Given the description of an element on the screen output the (x, y) to click on. 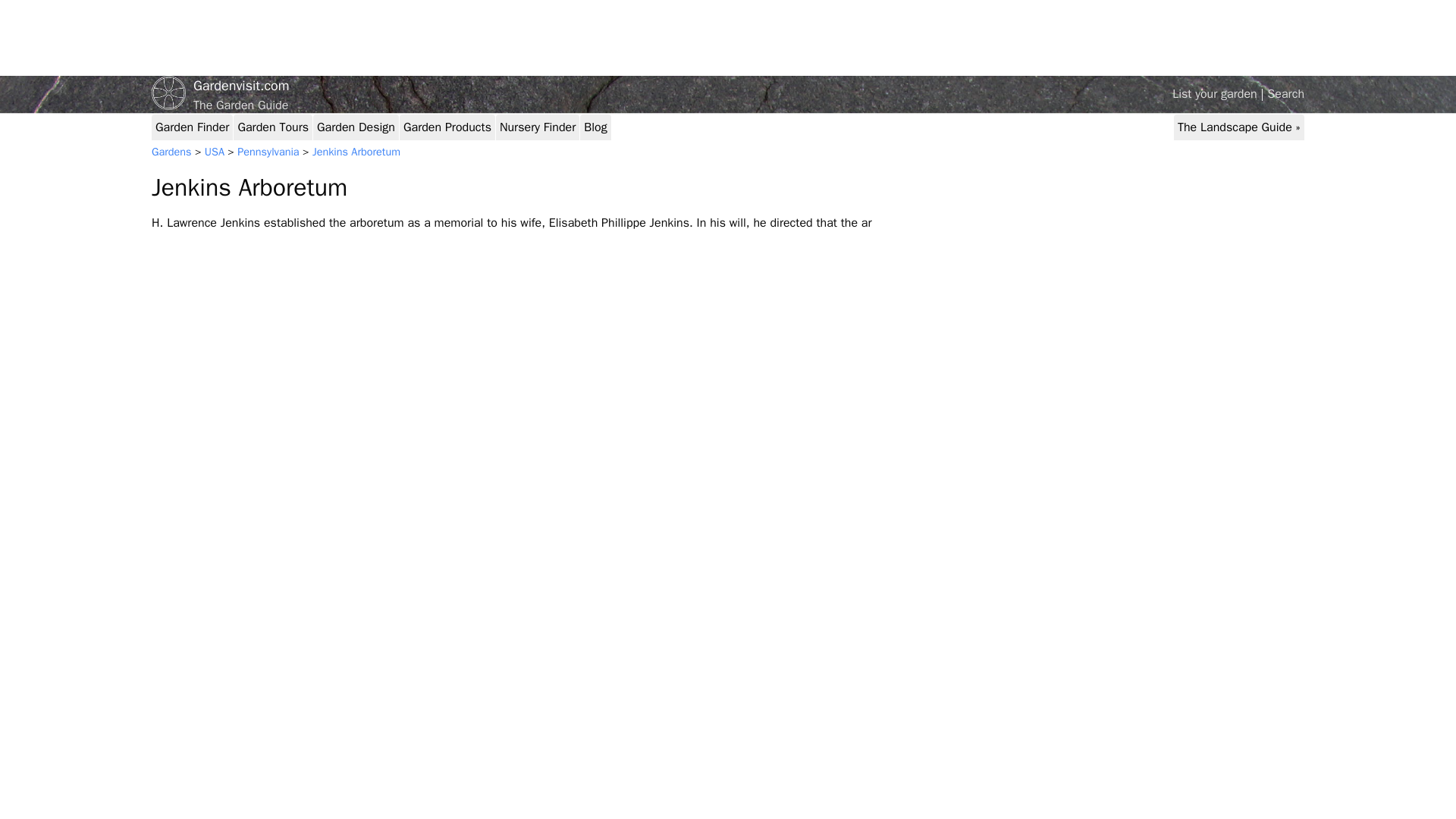
Garden Tours (272, 126)
Garden Products (447, 126)
Garden Finder (191, 126)
3rd party ad content (1222, 38)
List your garden (1214, 93)
Gardenvisit.com (727, 86)
Search (1285, 93)
Garden Design (355, 126)
3rd party ad content (427, 38)
Nursery Finder (537, 126)
